Given the description of an element on the screen output the (x, y) to click on. 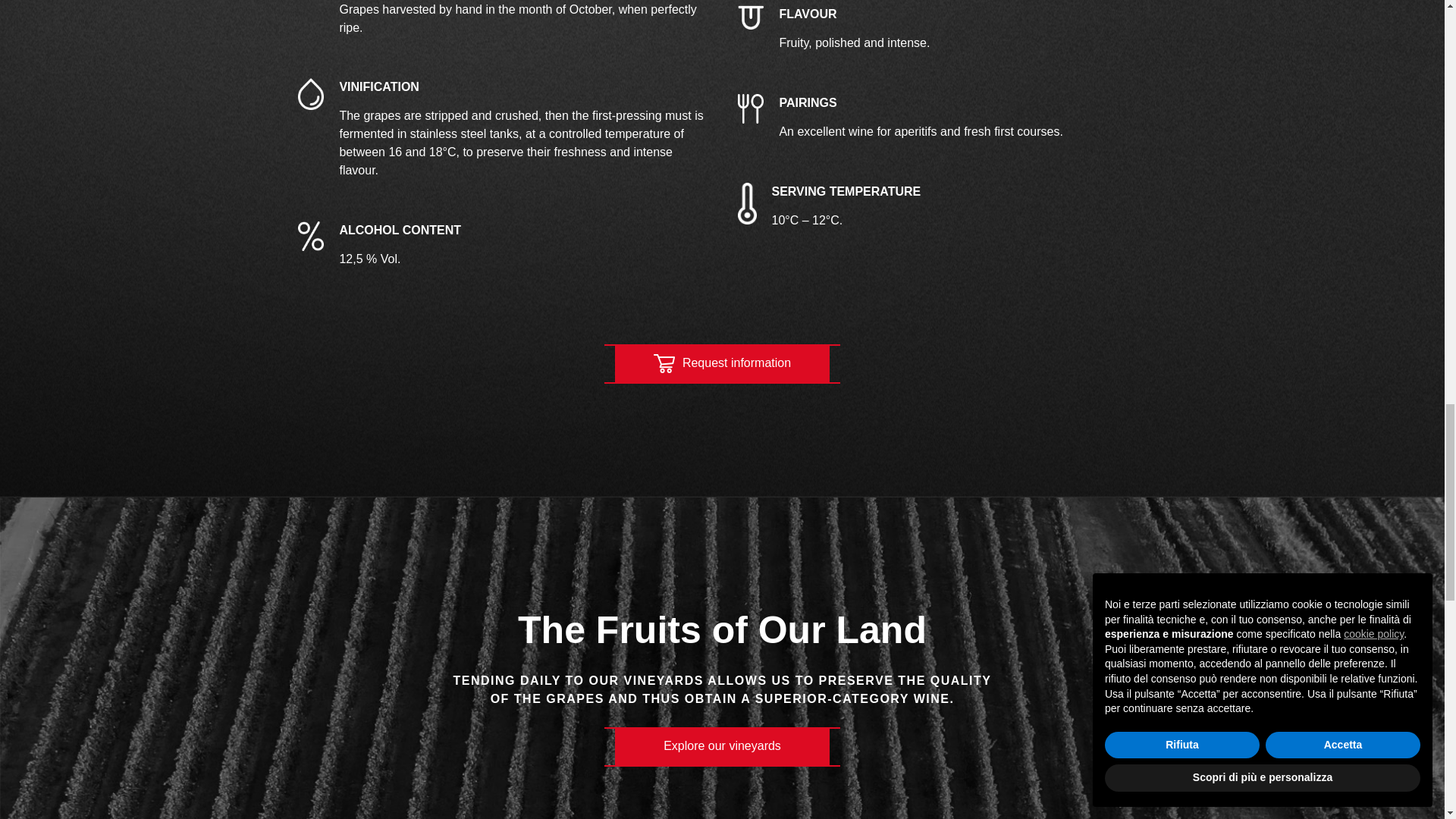
Explore our vineyards (721, 744)
Request information (721, 362)
